Given the description of an element on the screen output the (x, y) to click on. 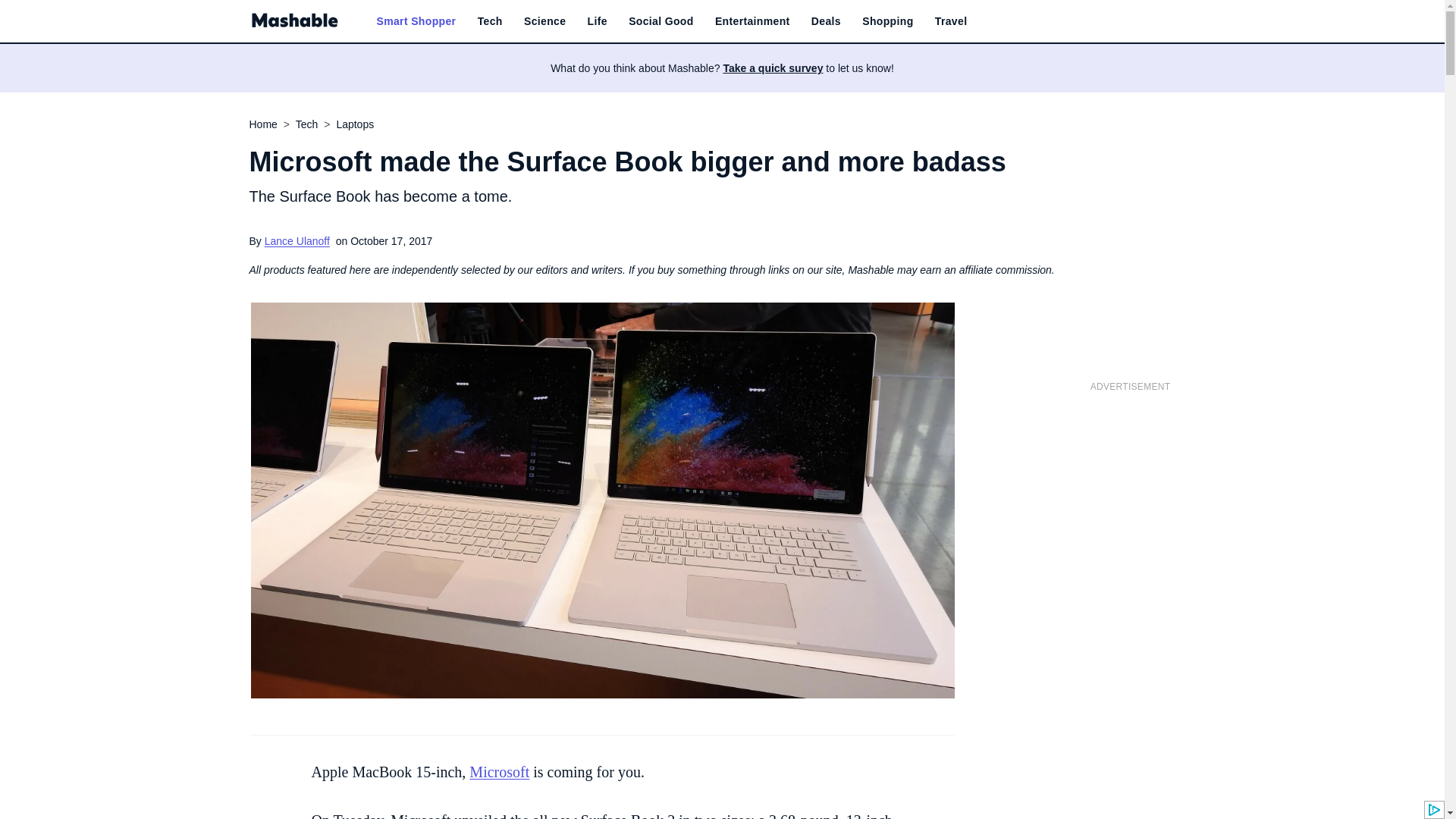
Shopping (886, 21)
Smart Shopper (415, 21)
Entertainment (752, 21)
Travel (951, 21)
Life (597, 21)
Social Good (661, 21)
Tech (489, 21)
Deals (825, 21)
Science (545, 21)
